Given the description of an element on the screen output the (x, y) to click on. 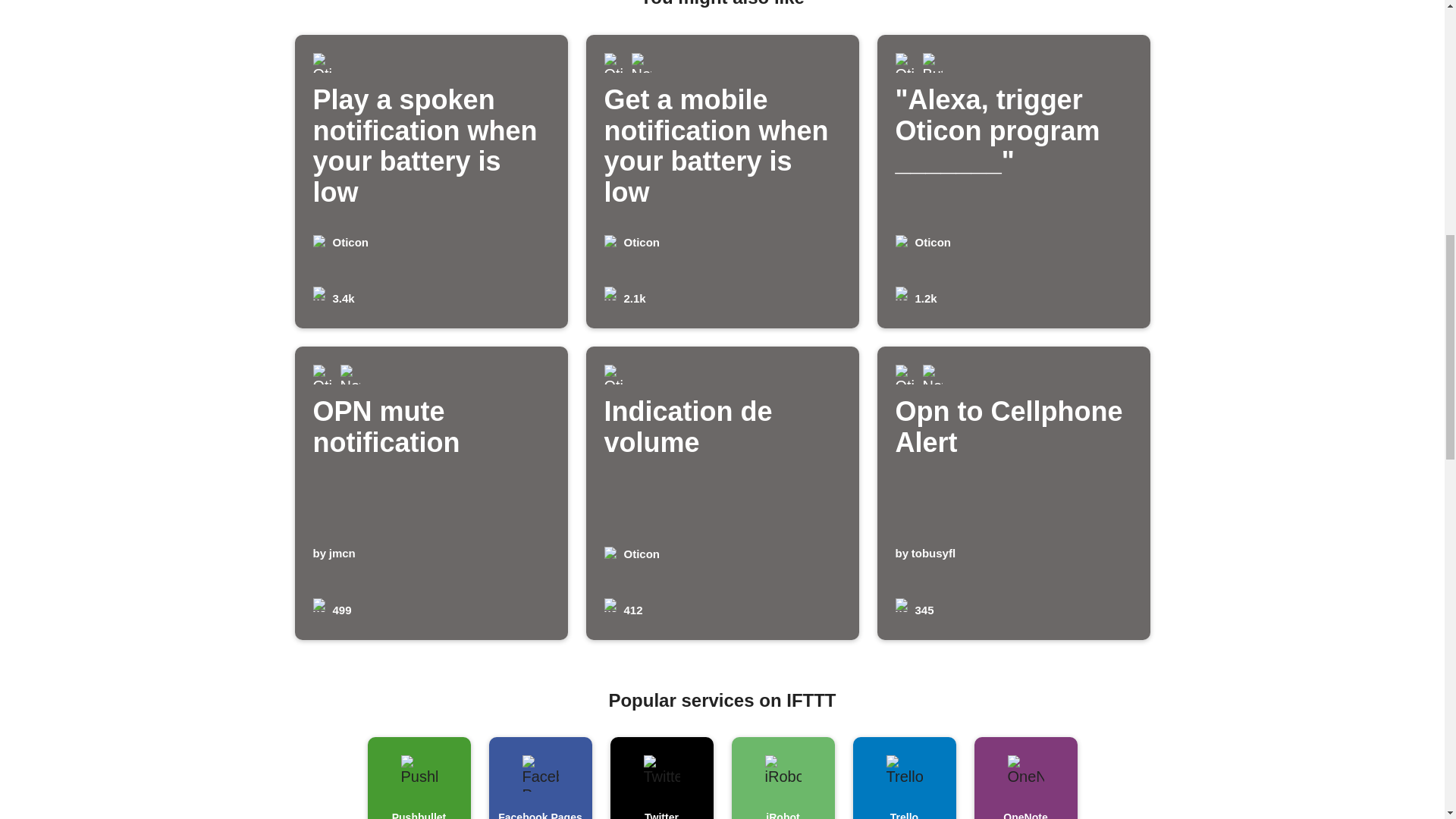
iRobot (782, 778)
Twitter (661, 778)
OneNote (1025, 778)
Pushbullet (1013, 492)
Trello (722, 492)
Facebook Pages (430, 492)
